Given the description of an element on the screen output the (x, y) to click on. 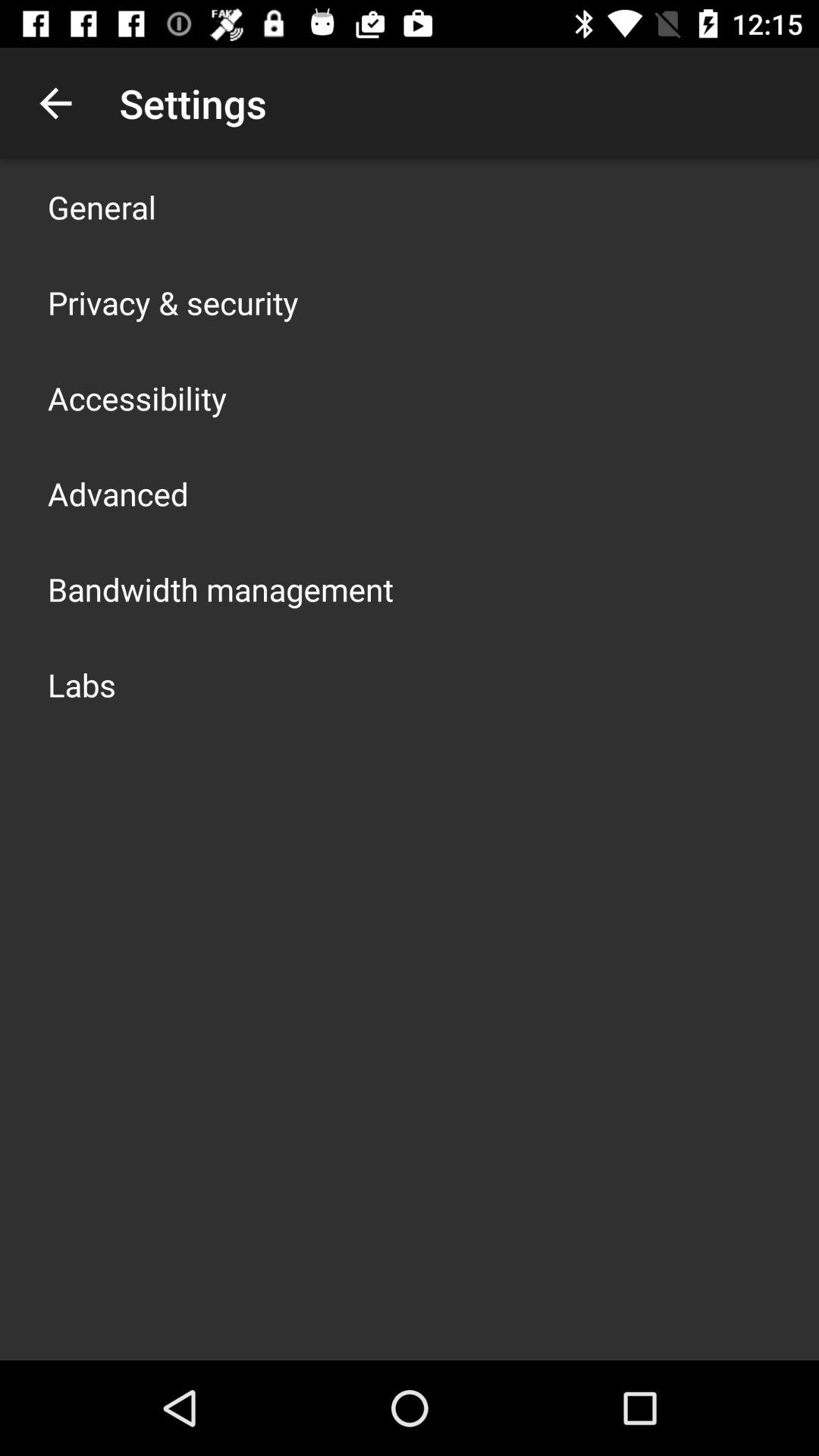
turn off app above general icon (55, 103)
